Given the description of an element on the screen output the (x, y) to click on. 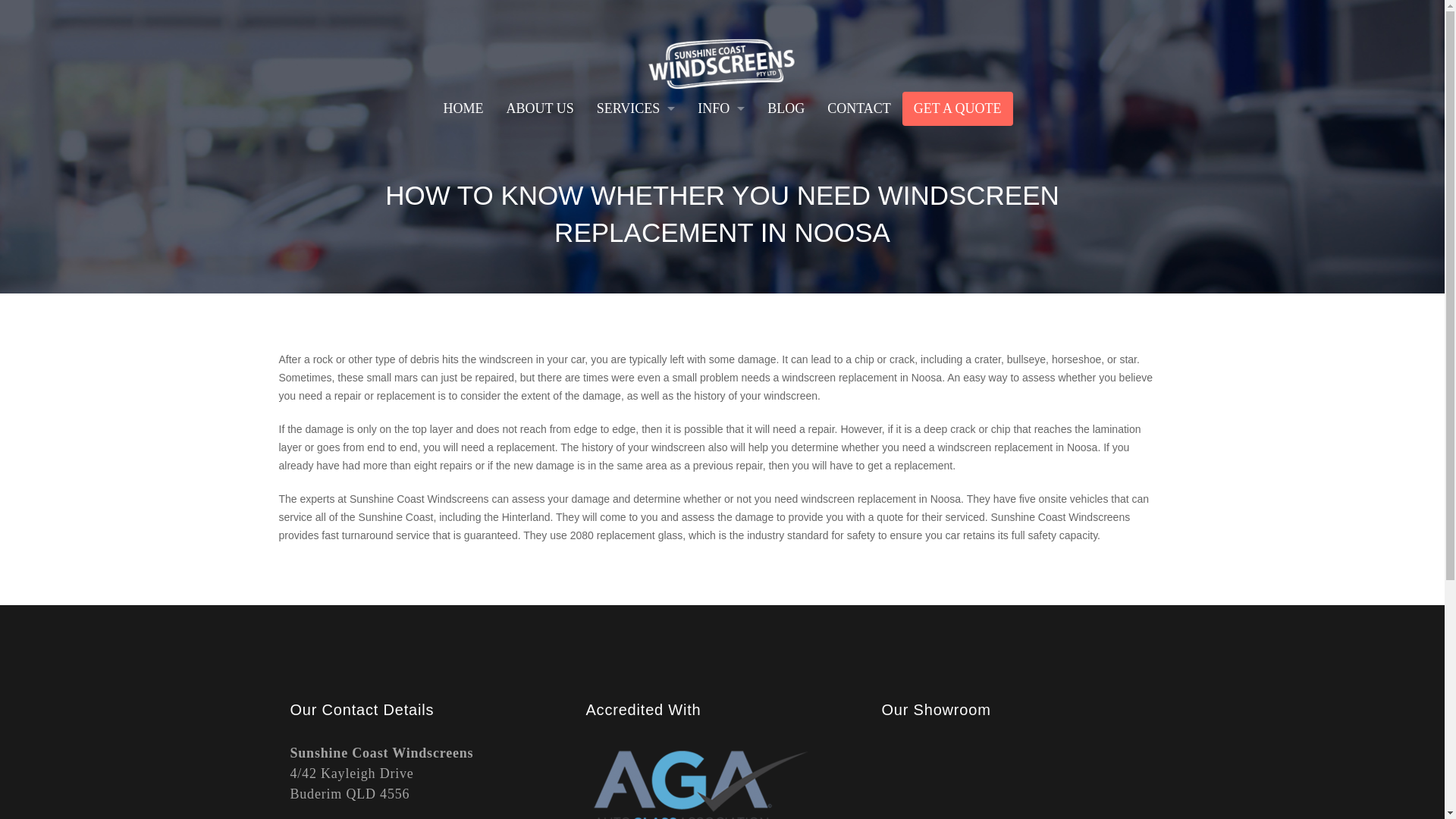
EMPLOYMENT (720, 142)
HOME (462, 108)
WINDSCREEN REPAIRS (636, 176)
WINDSCREEN REPLACEMENT (636, 211)
GALLERY (720, 211)
SPECIALS (720, 245)
ADAS CALIBRATION (636, 142)
ABOUT US (540, 108)
BLOG (785, 108)
INFO (720, 108)
